Given the description of an element on the screen output the (x, y) to click on. 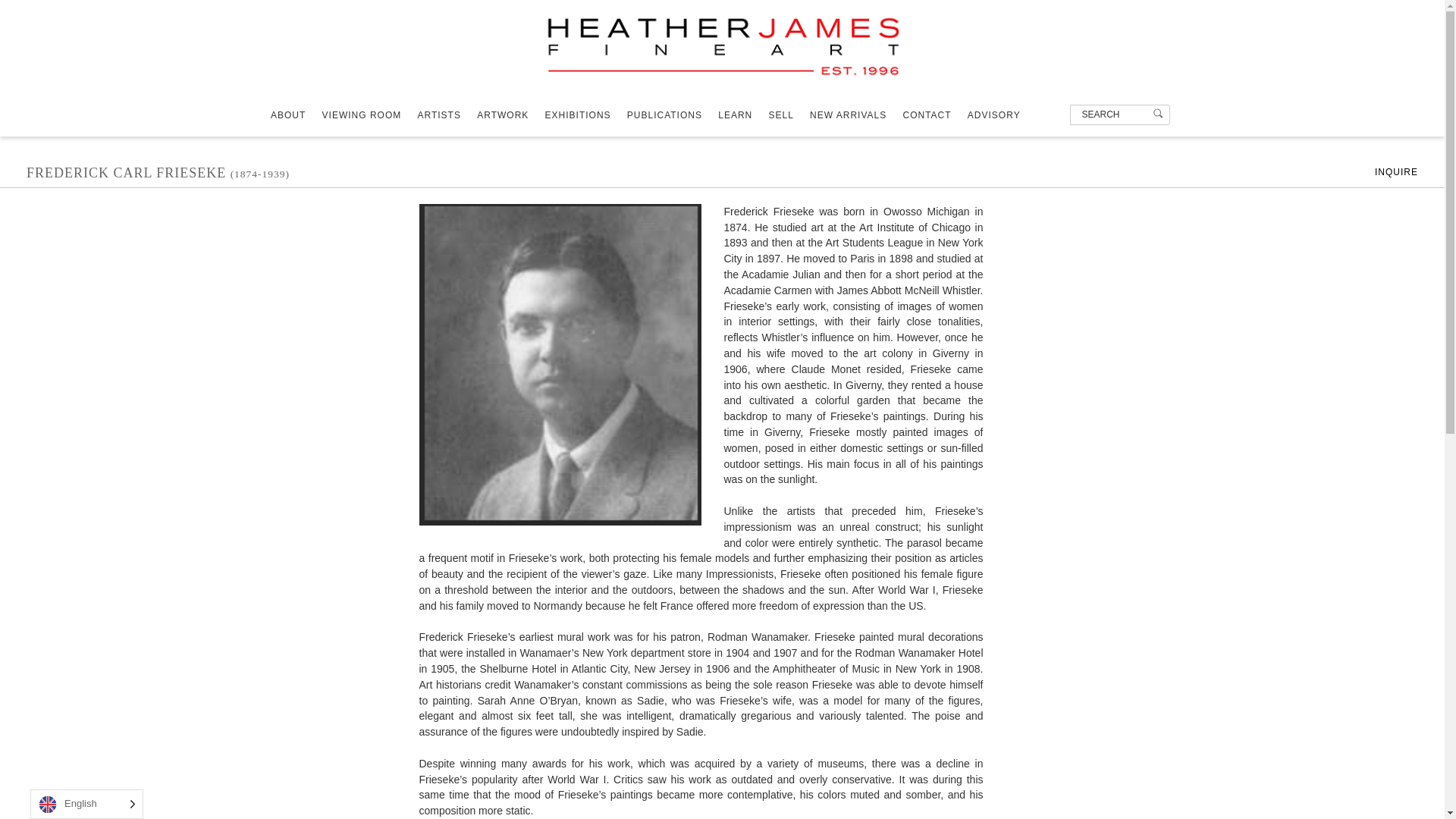
SELL (787, 114)
NEW ARRIVALS (854, 114)
ABOUT (294, 114)
Heather James (722, 77)
PUBLICATIONS (670, 114)
ARTISTS (444, 114)
VIEWING ROOM (367, 114)
LEARN (741, 114)
ARTWORK (509, 114)
EXHIBITIONS (584, 114)
